Given the description of an element on the screen output the (x, y) to click on. 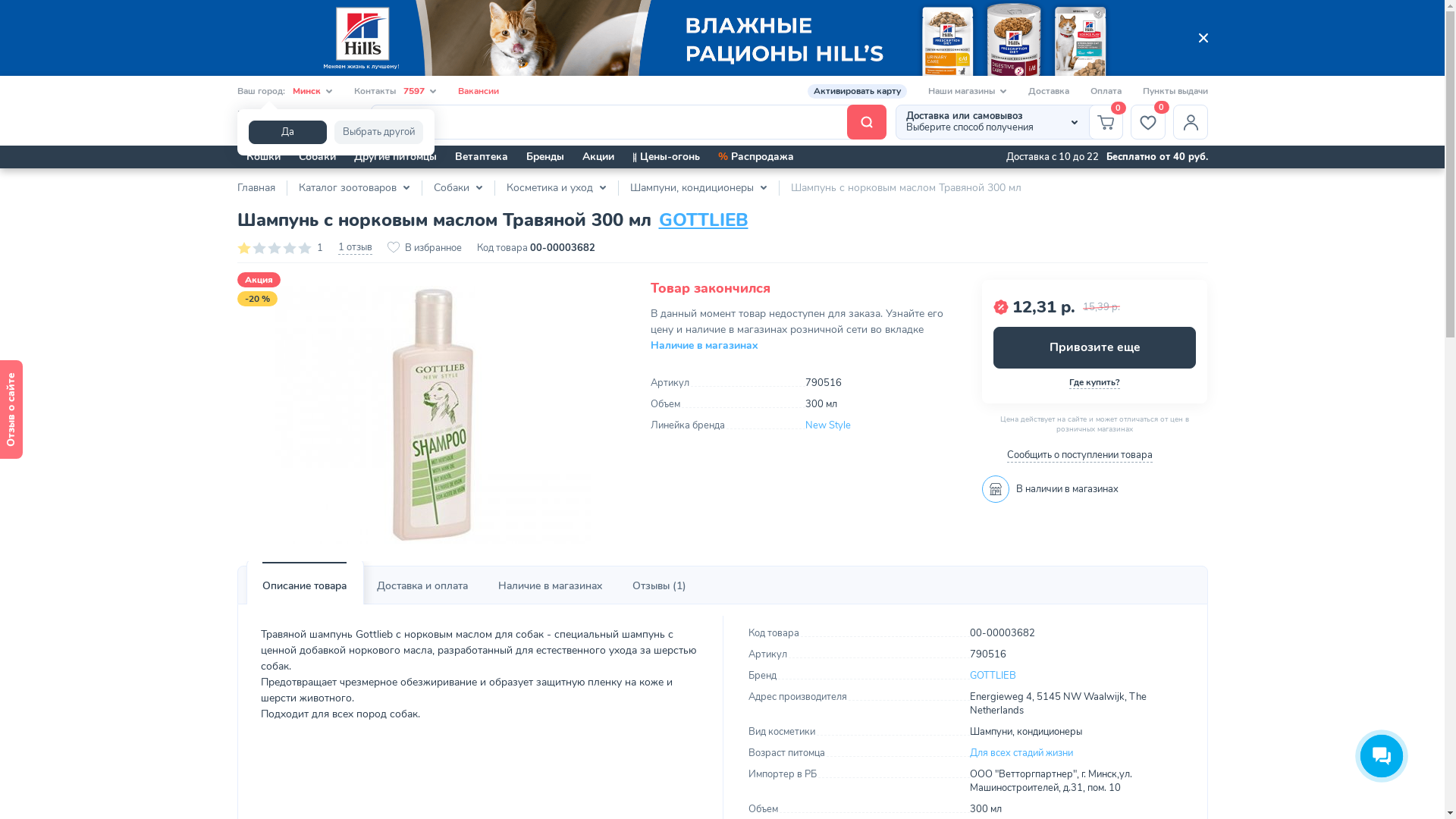
GOTTLIEB Element type: text (702, 219)
zoobazar.by Element type: hover (297, 122)
New Style Element type: text (827, 425)
0 Element type: text (1105, 121)
GOTTLIEB Element type: text (992, 675)
0 Element type: text (1146, 121)
